Given the description of an element on the screen output the (x, y) to click on. 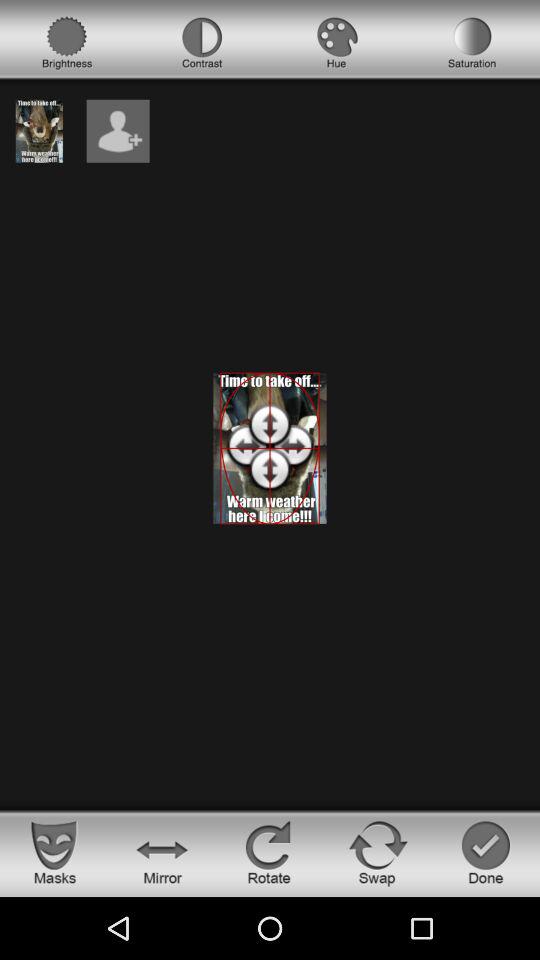
end editing photo (485, 852)
